Given the description of an element on the screen output the (x, y) to click on. 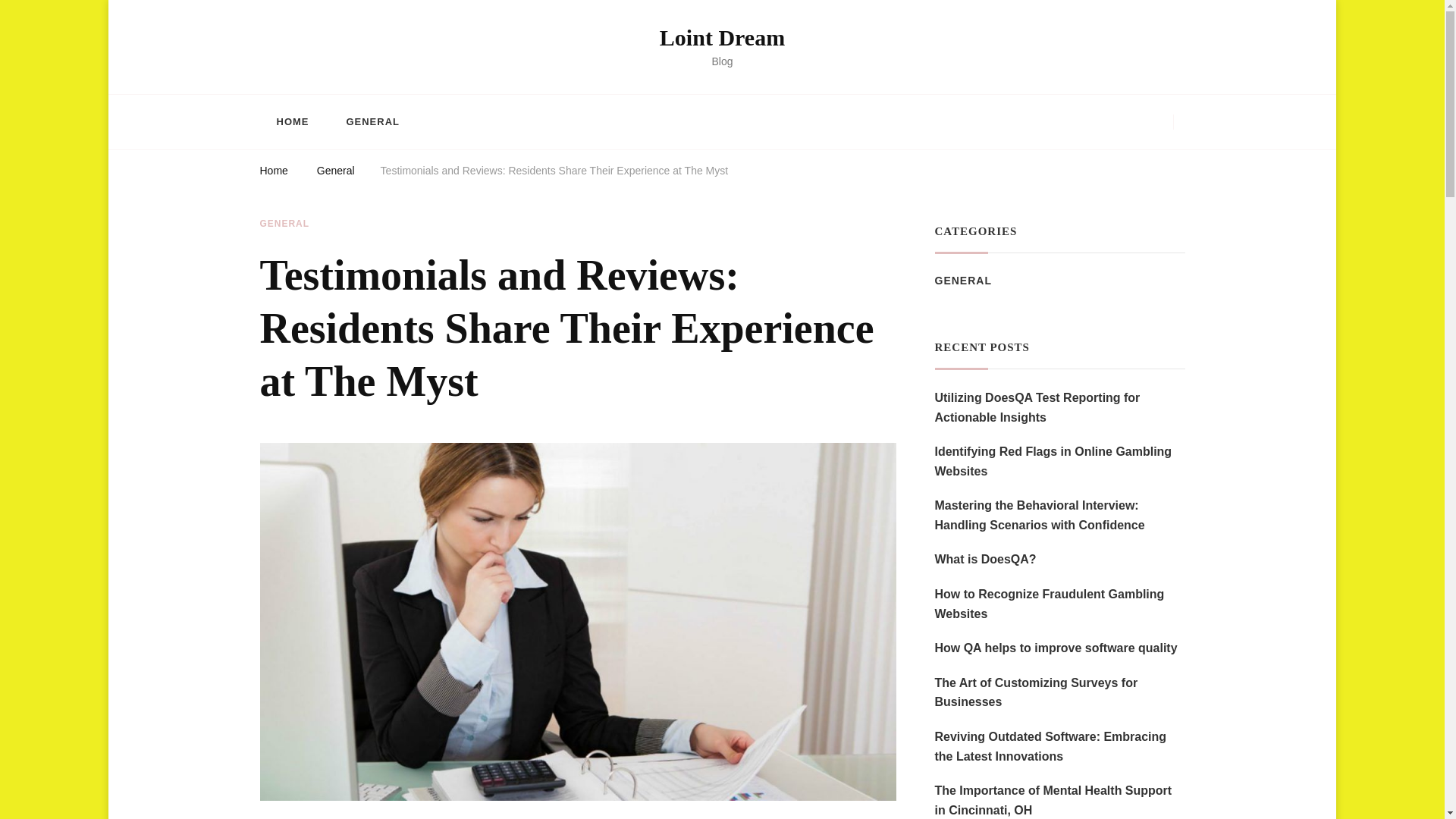
HOME (291, 121)
What is DoesQA? (984, 559)
Identifying Red Flags in Online Gambling Websites (1059, 461)
Loint Dream (721, 37)
Utilizing DoesQA Test Reporting for Actionable Insights (1059, 407)
Home (272, 172)
General (336, 172)
GENERAL (283, 223)
GENERAL (371, 121)
